Given the description of an element on the screen output the (x, y) to click on. 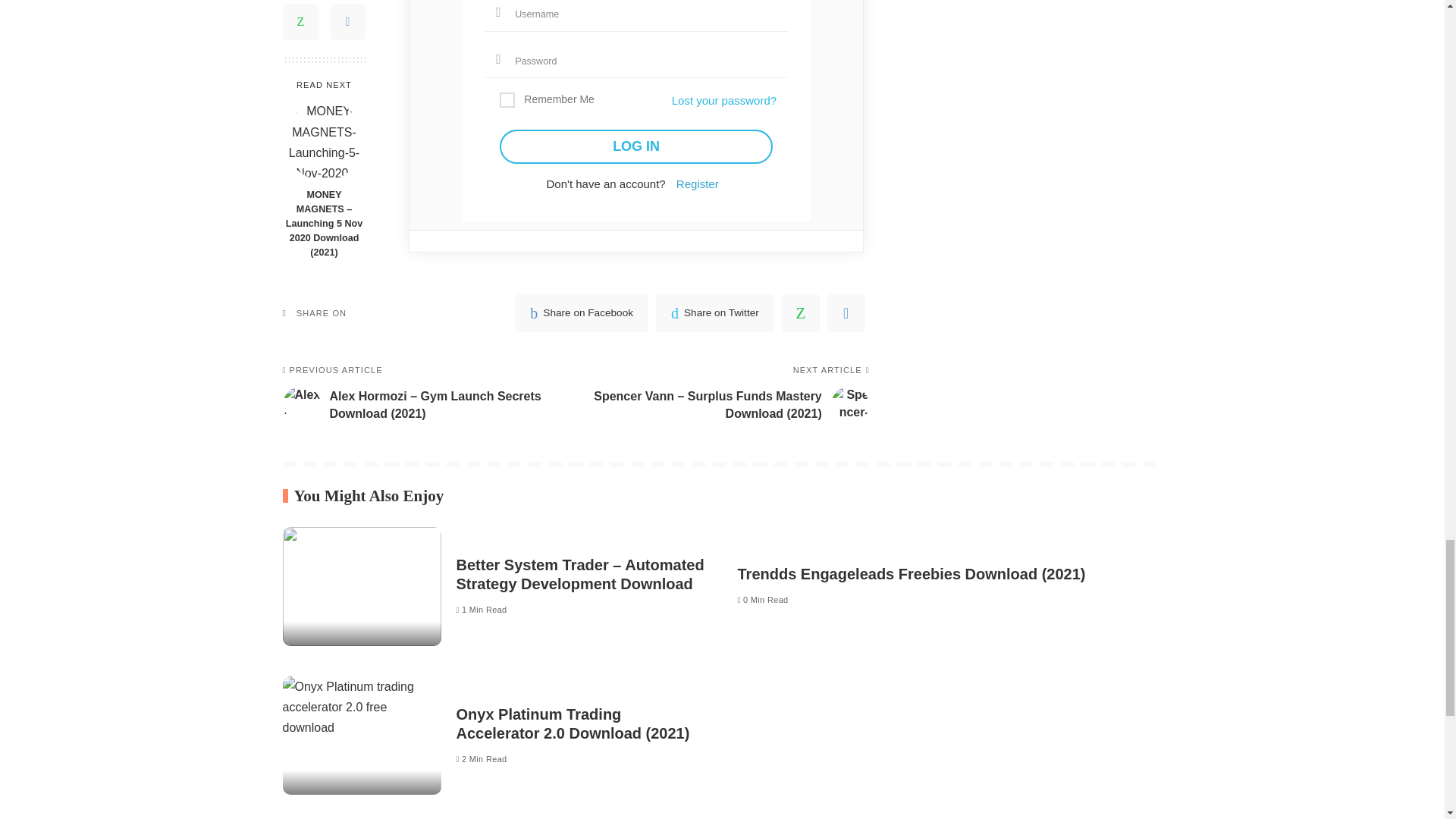
Facebook (581, 313)
Twitter (715, 313)
Telegram (845, 313)
forever (507, 99)
Log In (636, 146)
WhatsApp (800, 313)
